Given the description of an element on the screen output the (x, y) to click on. 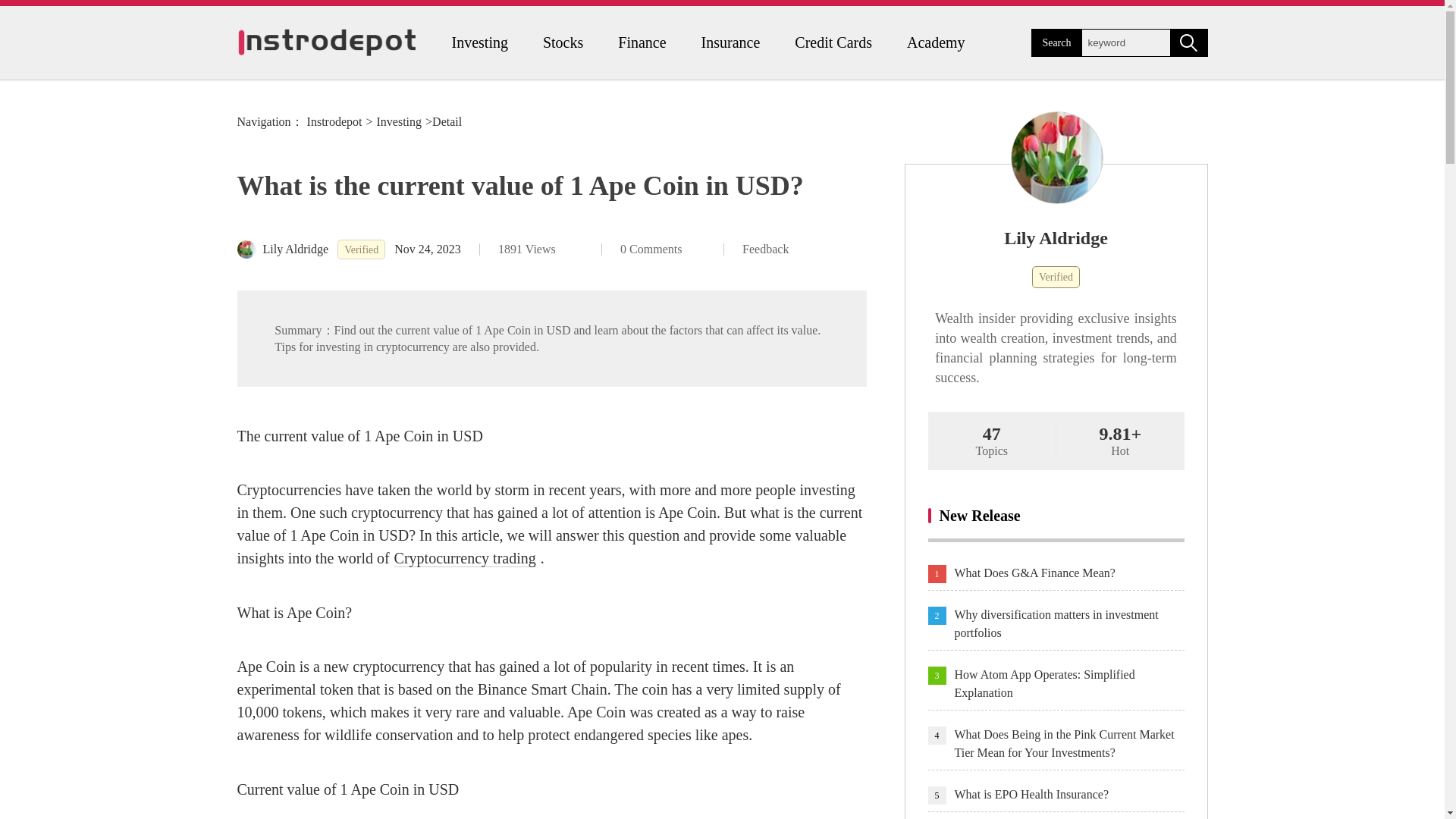
Academy (935, 42)
Search (1188, 42)
Insurance (730, 42)
Why diversification matters in investment portfolios (1068, 624)
Stocks (562, 42)
keyword (1125, 42)
Finance (641, 42)
Lily Aldridge (1056, 237)
Finance (641, 42)
Investing (479, 42)
Credit Cards (832, 42)
Lily Aldridge (282, 248)
Cryptocurrency trading (464, 558)
Academy (935, 42)
Instrodepot (334, 121)
